Given the description of an element on the screen output the (x, y) to click on. 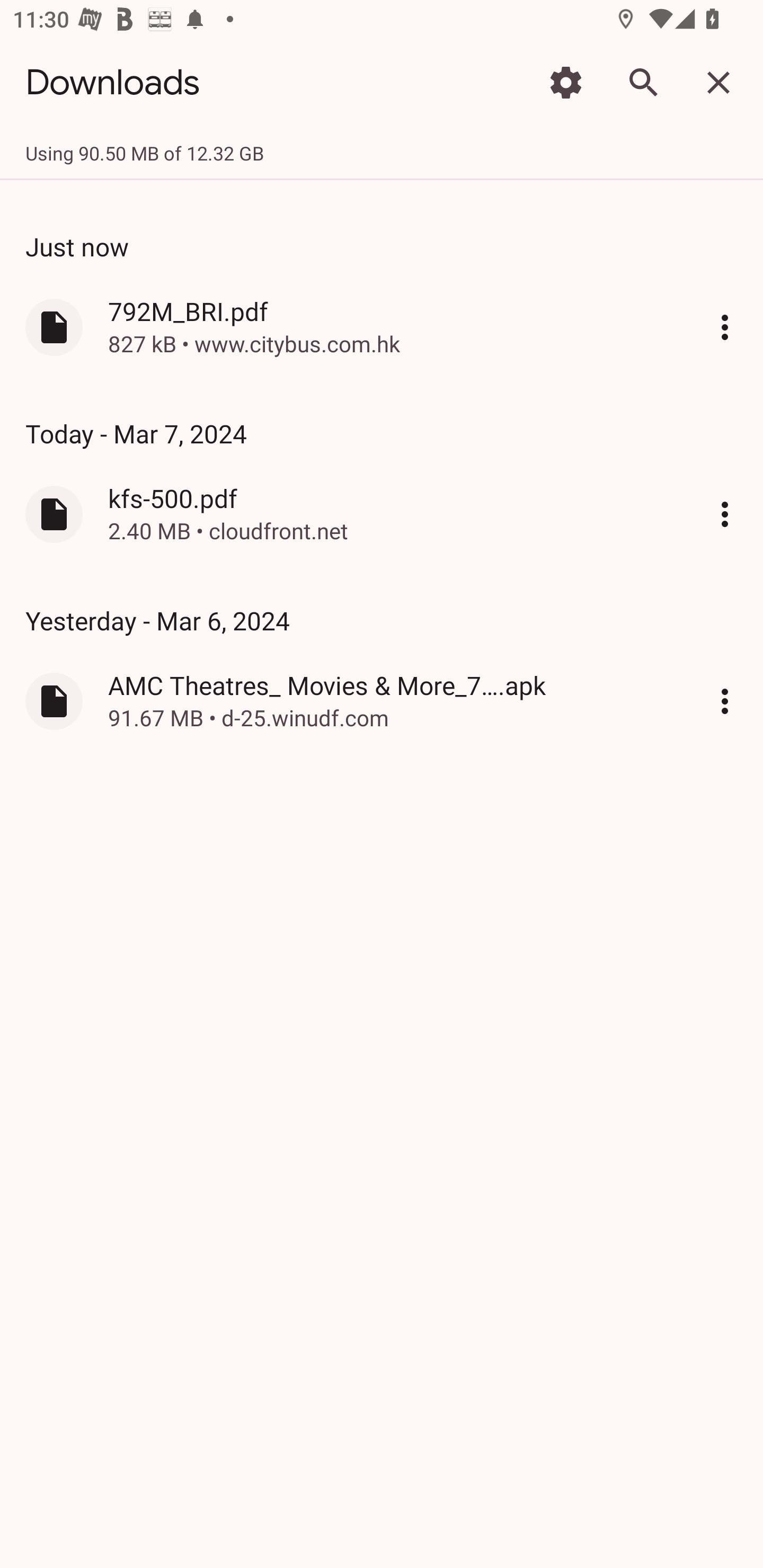
Settings (565, 81)
Search (642, 81)
Close (718, 81)
Customize and control Google Chrome (724, 326)
Customize and control Google Chrome (724, 513)
Customize and control Google Chrome (724, 701)
